Given the description of an element on the screen output the (x, y) to click on. 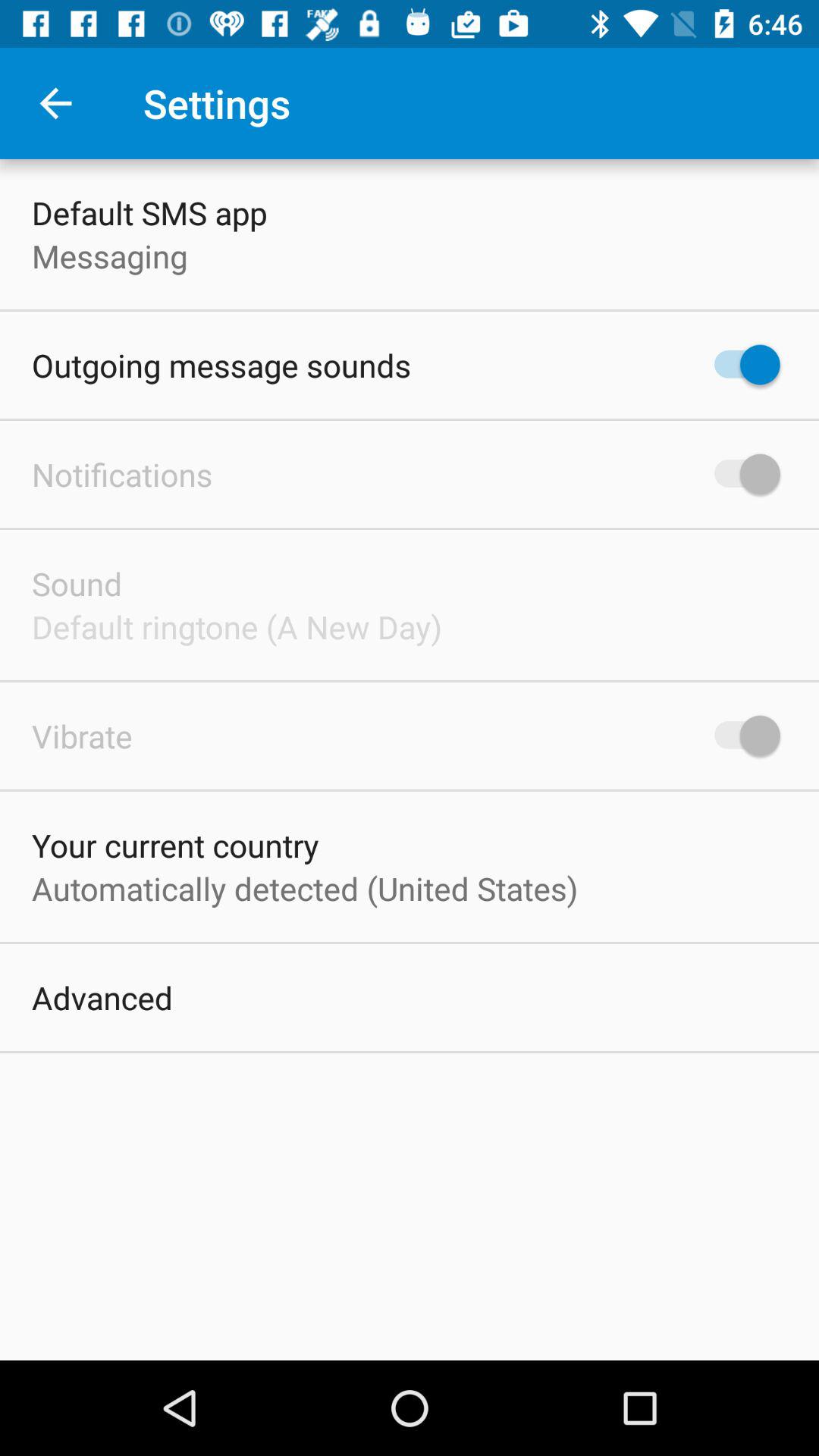
launch the advanced icon (101, 997)
